Given the description of an element on the screen output the (x, y) to click on. 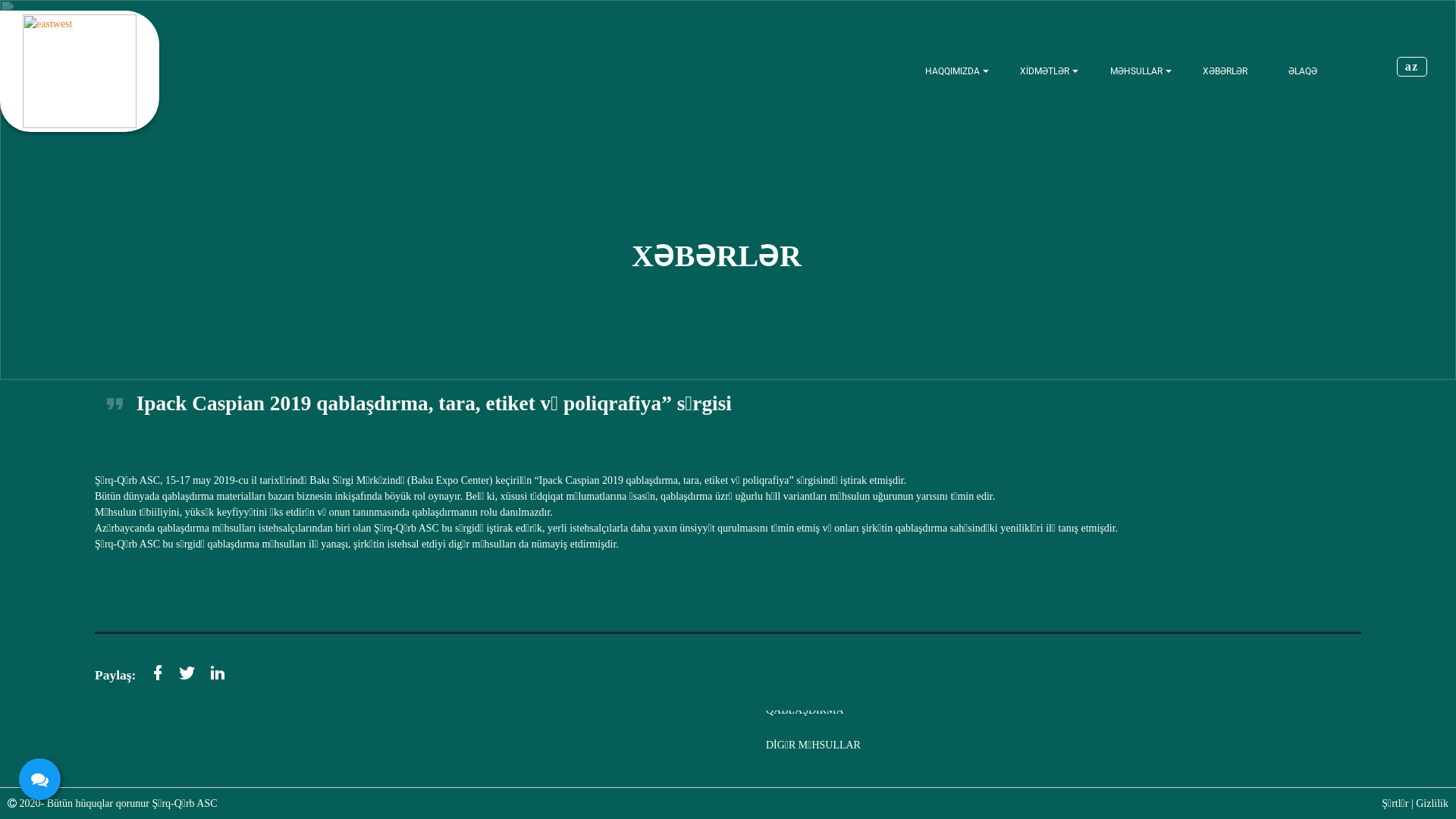
office@sharq-qarb.az Element type: text (167, 598)
Instagram Element type: hover (201, 630)
HAQQIMIZDA Element type: text (952, 71)
Twitter Element type: hover (149, 630)
Youtube Element type: hover (226, 630)
Linkedin Element type: text (215, 671)
LinkedIn Element type: hover (175, 630)
Twitter Element type: text (185, 671)
+994 12 374 83 43
+994 12 374 75 62
+994 51 374 83 43 Element type: text (161, 550)
az Element type: text (1411, 66)
Gizlilik Element type: text (1431, 803)
Facebook Element type: hover (126, 630)
JURNALLAR Element type: text (796, 604)
Facebook Element type: text (155, 671)
HAQQIMIZDA Element type: text (477, 569)
KATALOQLAR Element type: text (800, 569)
